Given the description of an element on the screen output the (x, y) to click on. 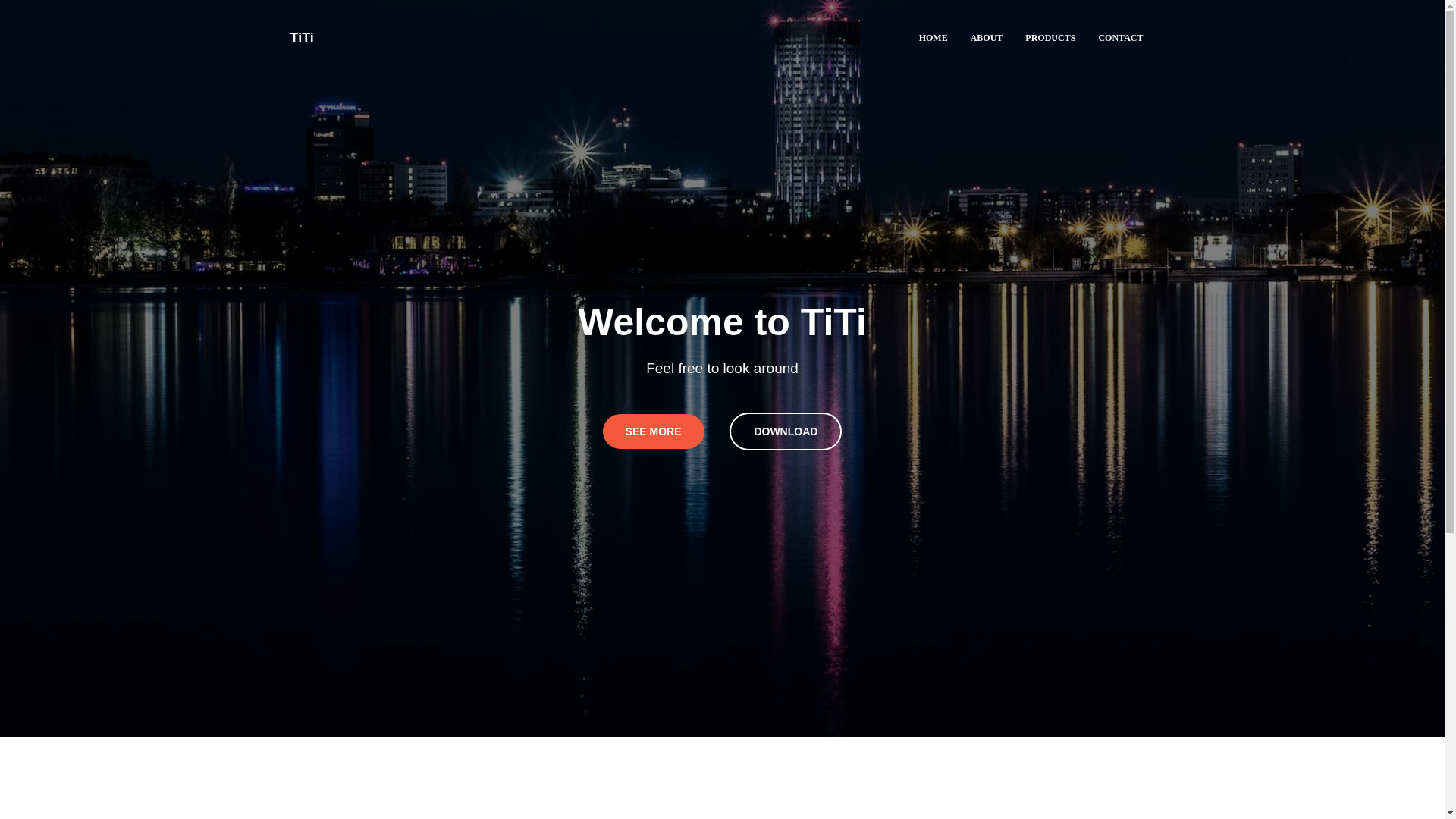
CONTACT (1120, 37)
About (986, 37)
DOWNLOAD (785, 431)
TiTi (301, 37)
HOME (933, 37)
Home (933, 37)
Contact (1120, 37)
SEE MORE (653, 431)
TiTi (301, 37)
Download (785, 431)
